Given the description of an element on the screen output the (x, y) to click on. 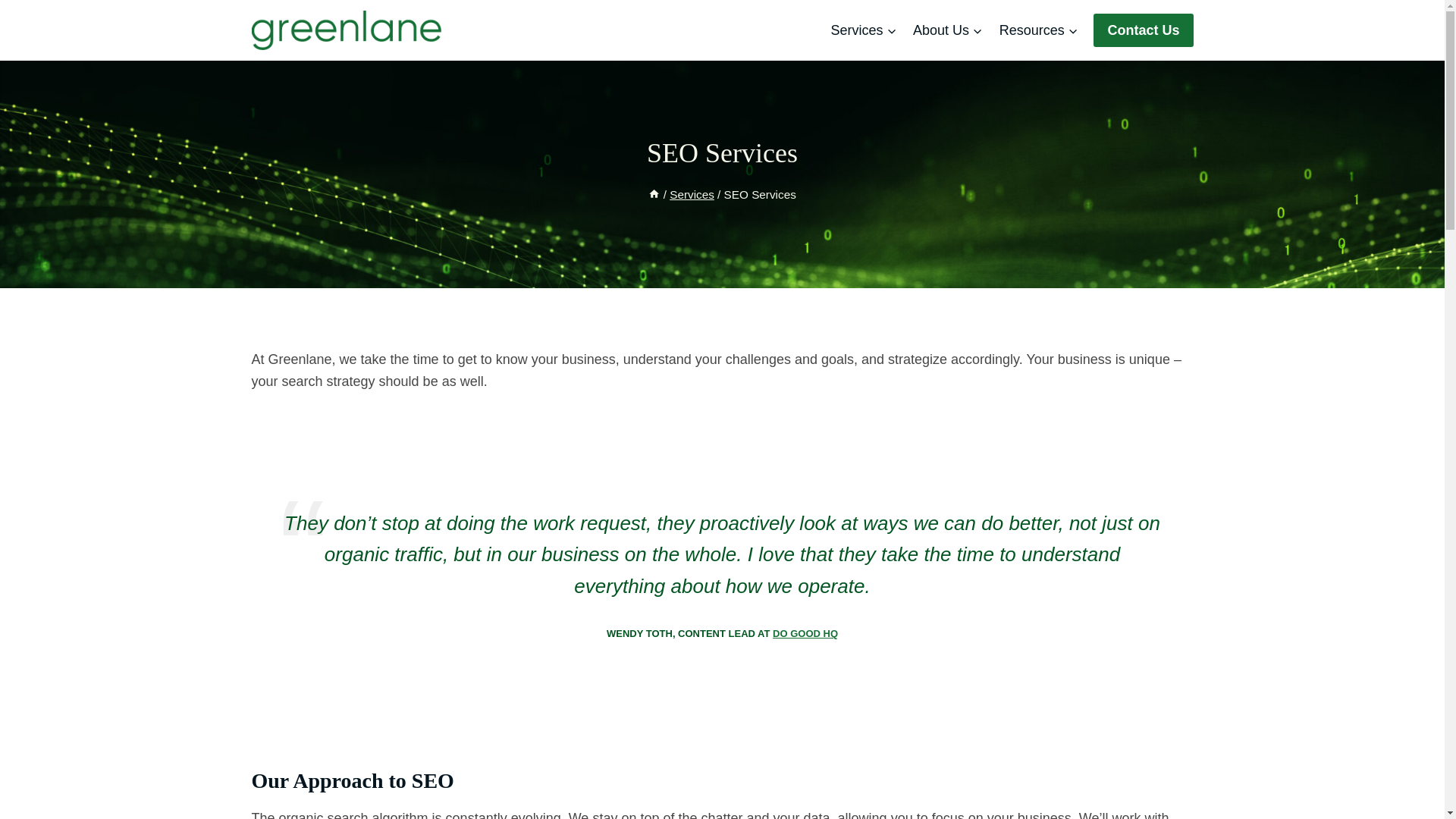
Resources (1038, 30)
Services (691, 194)
Services (863, 30)
About Us (947, 30)
DO GOOD HQ (805, 633)
Contact Us (1142, 29)
